Given the description of an element on the screen output the (x, y) to click on. 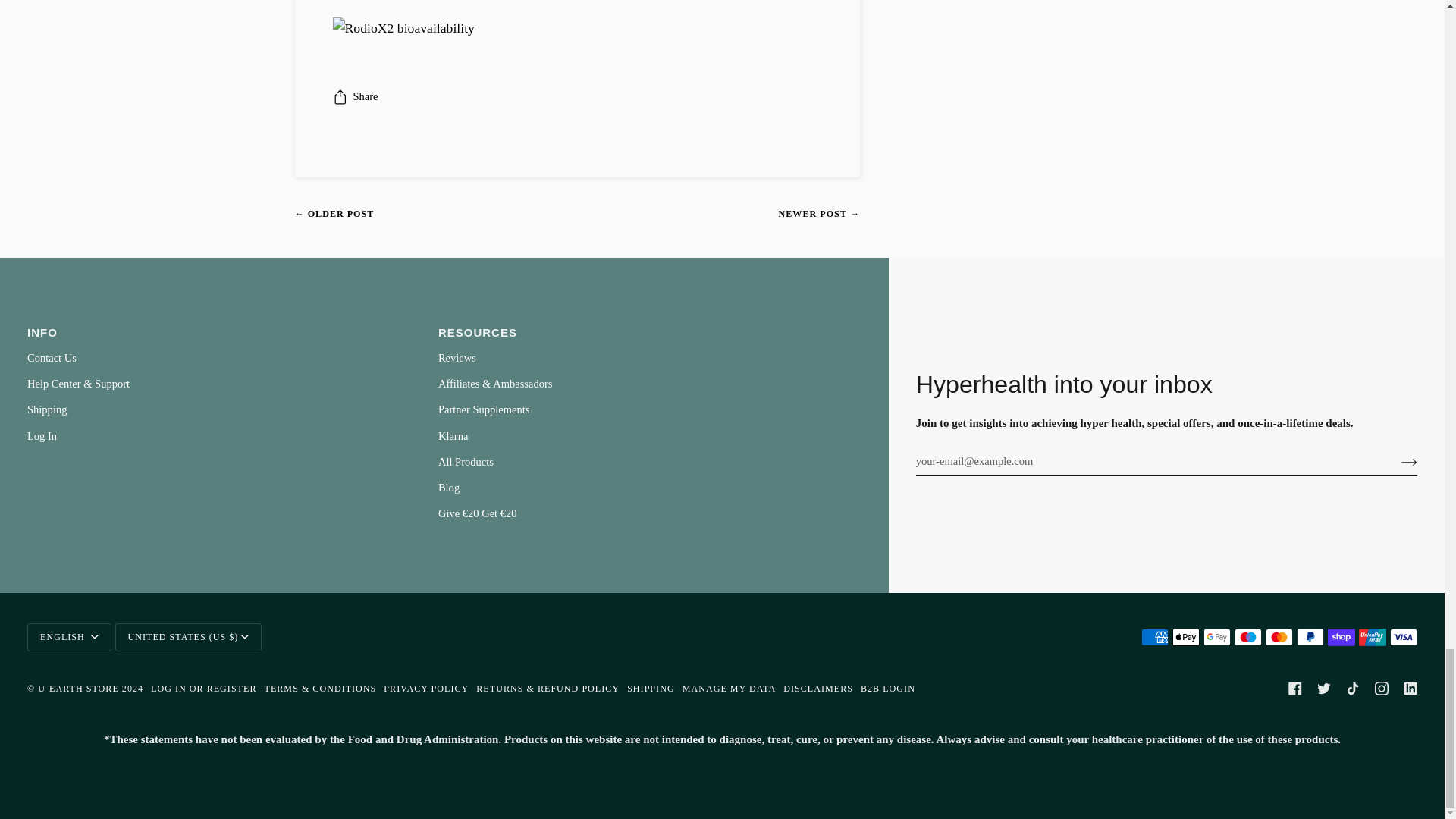
Tiktok (1352, 688)
VISA (1403, 637)
Instagram (1381, 688)
Twitter (1323, 688)
Linkedin (1409, 688)
APPLE PAY (1185, 637)
Facebook (1294, 688)
MASTERCARD (1278, 637)
MAESTRO (1248, 637)
UNION PAY (1372, 637)
SHOP PAY (1341, 637)
PAYPAL (1310, 637)
GOOGLE PAY (1217, 637)
AMERICAN EXPRESS (1155, 637)
